Given the description of an element on the screen output the (x, y) to click on. 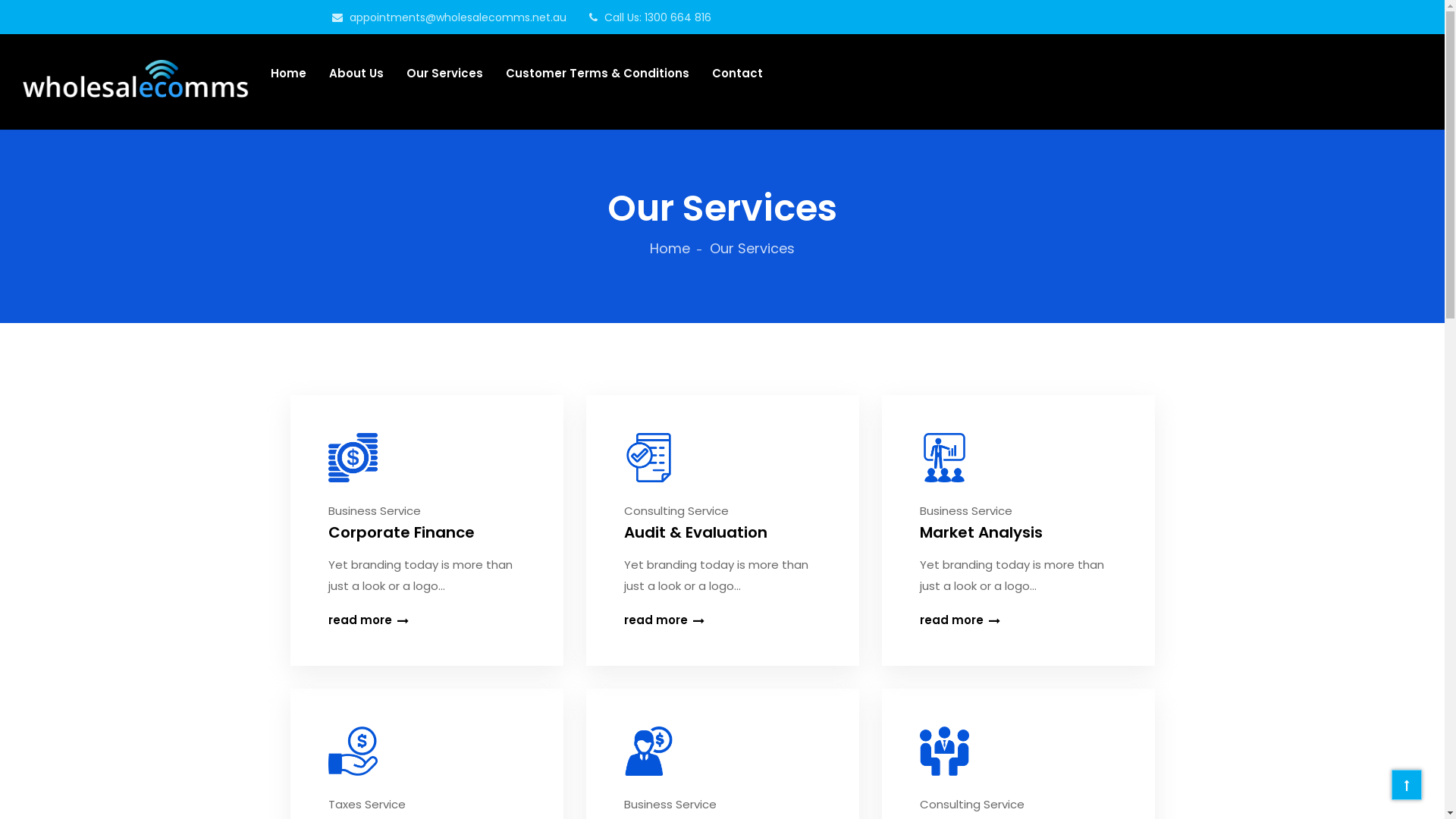
Customer Terms & Conditions Element type: text (597, 73)
read more Element type: text (1017, 619)
Home Element type: text (288, 73)
Call Us: 1300 664 816 Element type: text (649, 17)
read more Element type: text (425, 619)
read more Element type: text (721, 619)
Contact Element type: text (737, 73)
About Us Element type: text (356, 73)
Our Services Element type: text (444, 73)
Market Analysis Element type: text (1017, 532)
appointments@wholesalecomms.net.au Element type: text (449, 17)
Audit & Evaluation Element type: text (721, 532)
Home Element type: text (676, 247)
Corporate Finance Element type: text (425, 532)
